Given the description of an element on the screen output the (x, y) to click on. 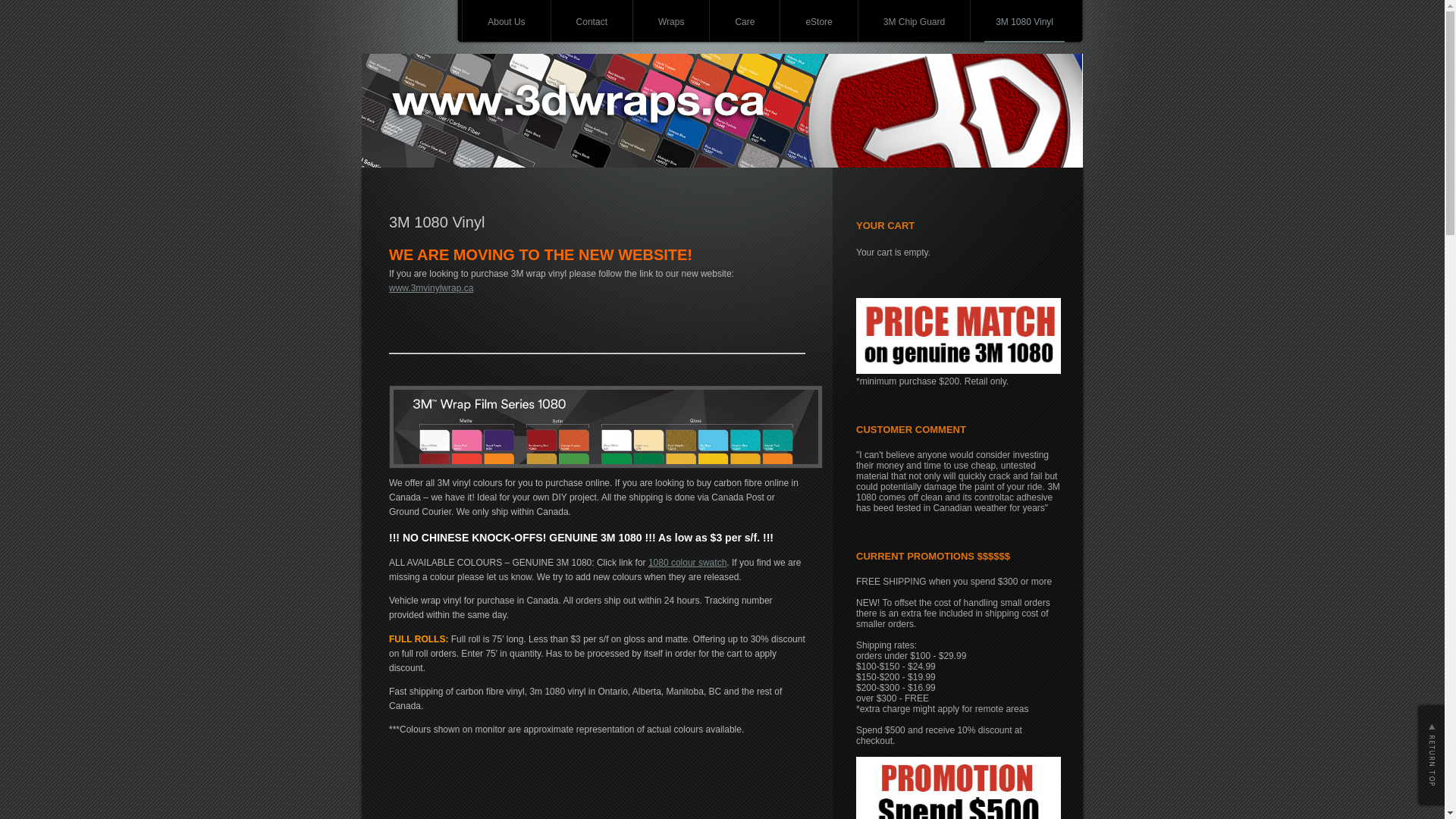
eStore Element type: text (818, 21)
www.3mvinylwrap.ca Element type: text (431, 287)
Wraps Element type: text (670, 21)
3M Chip Guard Element type: text (914, 21)
3M 1080 Vinyl Element type: text (1024, 22)
  Element type: text (1429, 754)
Care Element type: text (744, 21)
About Us Element type: text (506, 21)
1080 colour swatch Element type: text (687, 562)
We Price Match 3M Vinyl Element type: hover (958, 335)
Contact Element type: text (591, 21)
